Given the description of an element on the screen output the (x, y) to click on. 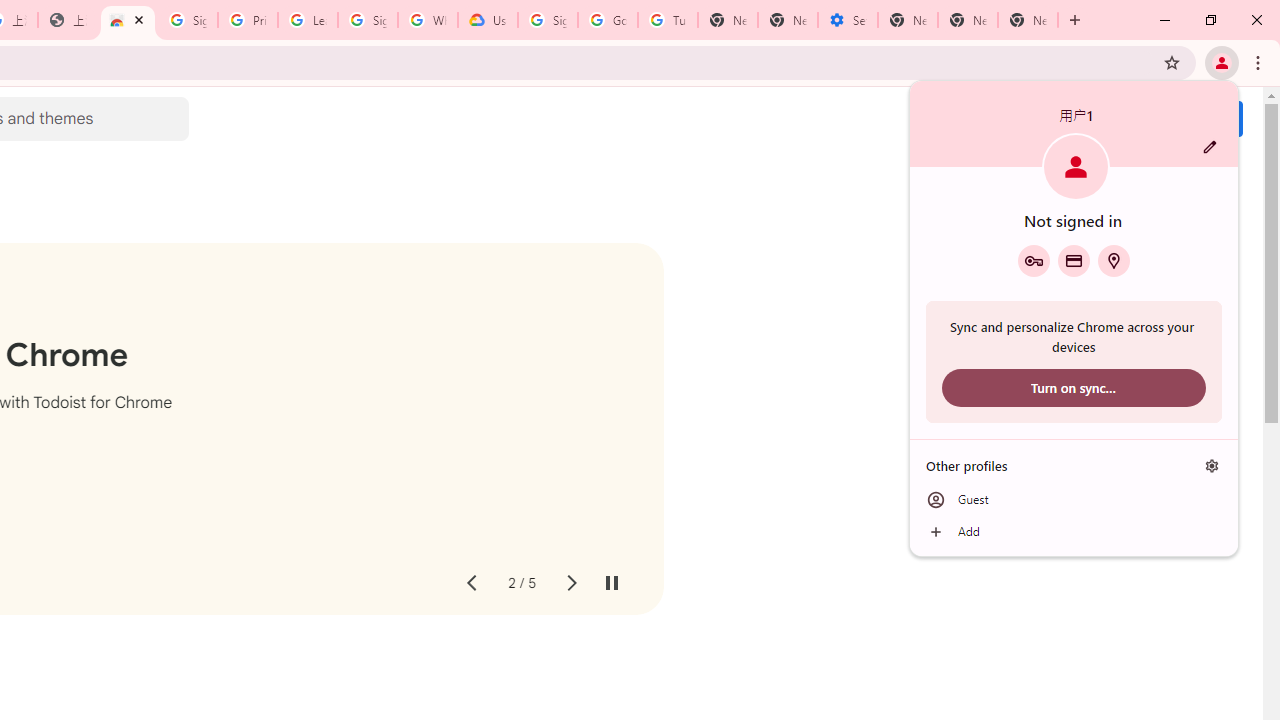
Pause auto-play (611, 583)
New Tab (908, 20)
Sign in - Google Accounts (548, 20)
Next slide (570, 583)
Who are Google's partners? - Privacy and conditions - Google (428, 20)
Payment methods (1074, 260)
Add (1073, 531)
Addresses and more (1114, 260)
Guest (1073, 499)
Turn cookies on or off - Computer - Google Account Help (667, 20)
Google Password Manager (1033, 260)
